Given the description of an element on the screen output the (x, y) to click on. 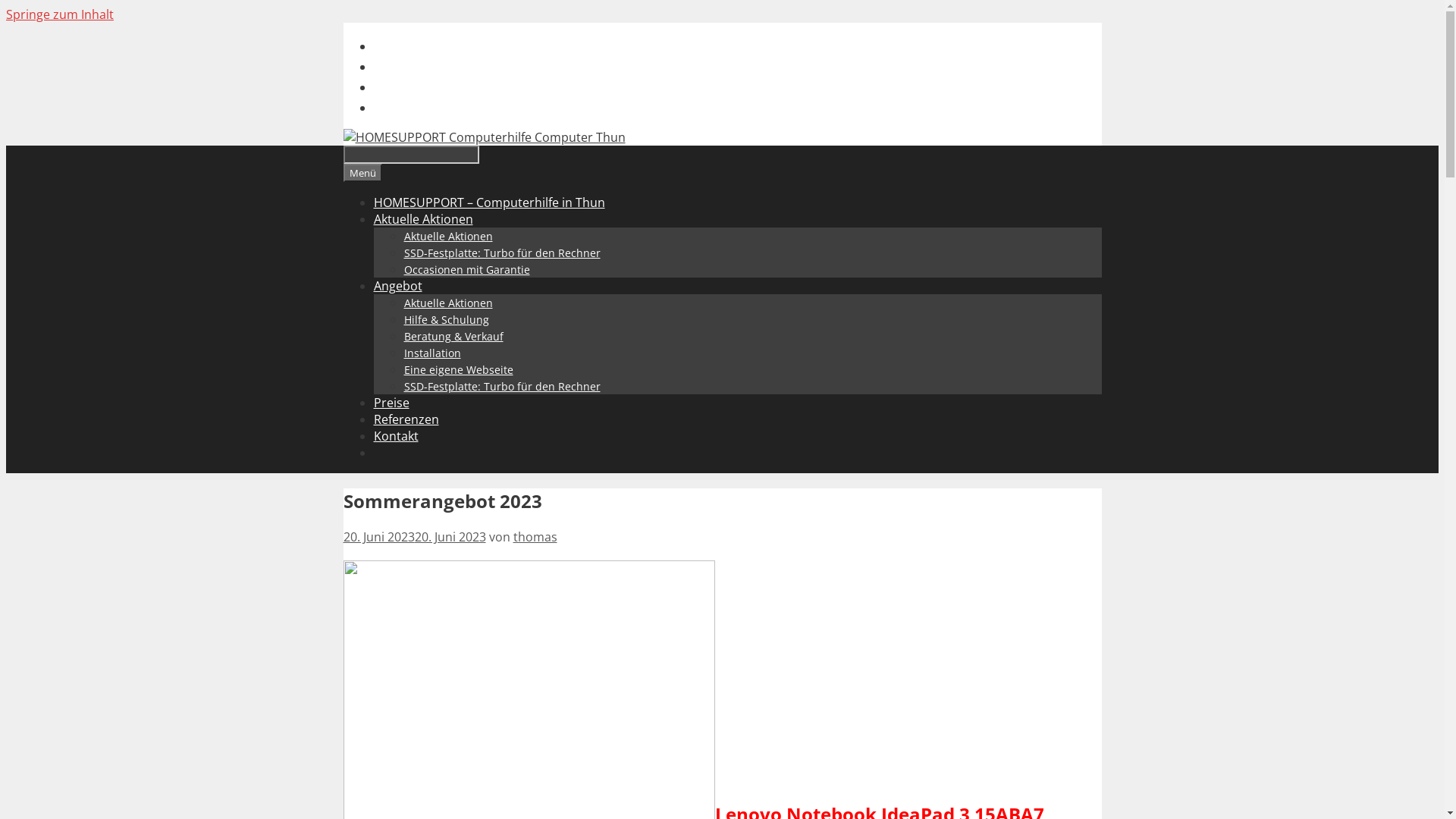
Angebot Element type: text (397, 285)
20. Juni 202320. Juni 2023 Element type: text (413, 536)
Referenzen Element type: text (405, 419)
Eine eigene Webseite Element type: text (457, 369)
Occasionen mit Garantie Element type: text (466, 269)
Beratung & Verkauf Element type: text (452, 336)
Installation Element type: text (431, 352)
Aktuelle Aktionen Element type: text (447, 236)
Aktuelle Aktionen Element type: text (447, 302)
HOMESUPPORT Computerhilfe Computer Thun Element type: hover (483, 136)
thomas Element type: text (534, 536)
Hilfe & Schulung Element type: text (445, 319)
Kontakt Element type: text (395, 435)
Suchen Element type: hover (410, 154)
Springe zum Inhalt Element type: text (59, 14)
Aktuelle Aktionen Element type: text (422, 218)
Preise Element type: text (390, 402)
